Given the description of an element on the screen output the (x, y) to click on. 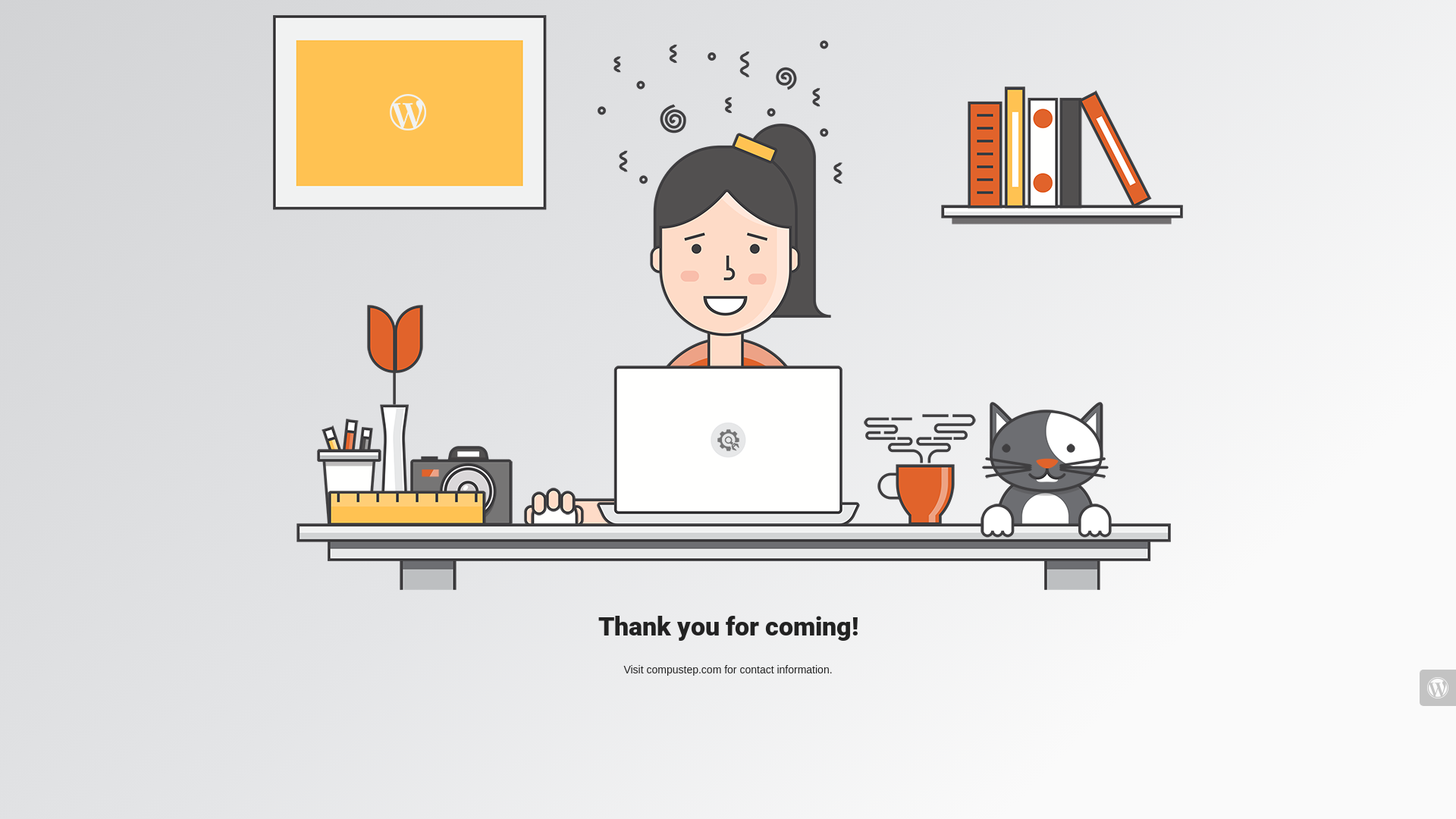
Cyber Chick at work Element type: hover (728, 302)
